Given the description of an element on the screen output the (x, y) to click on. 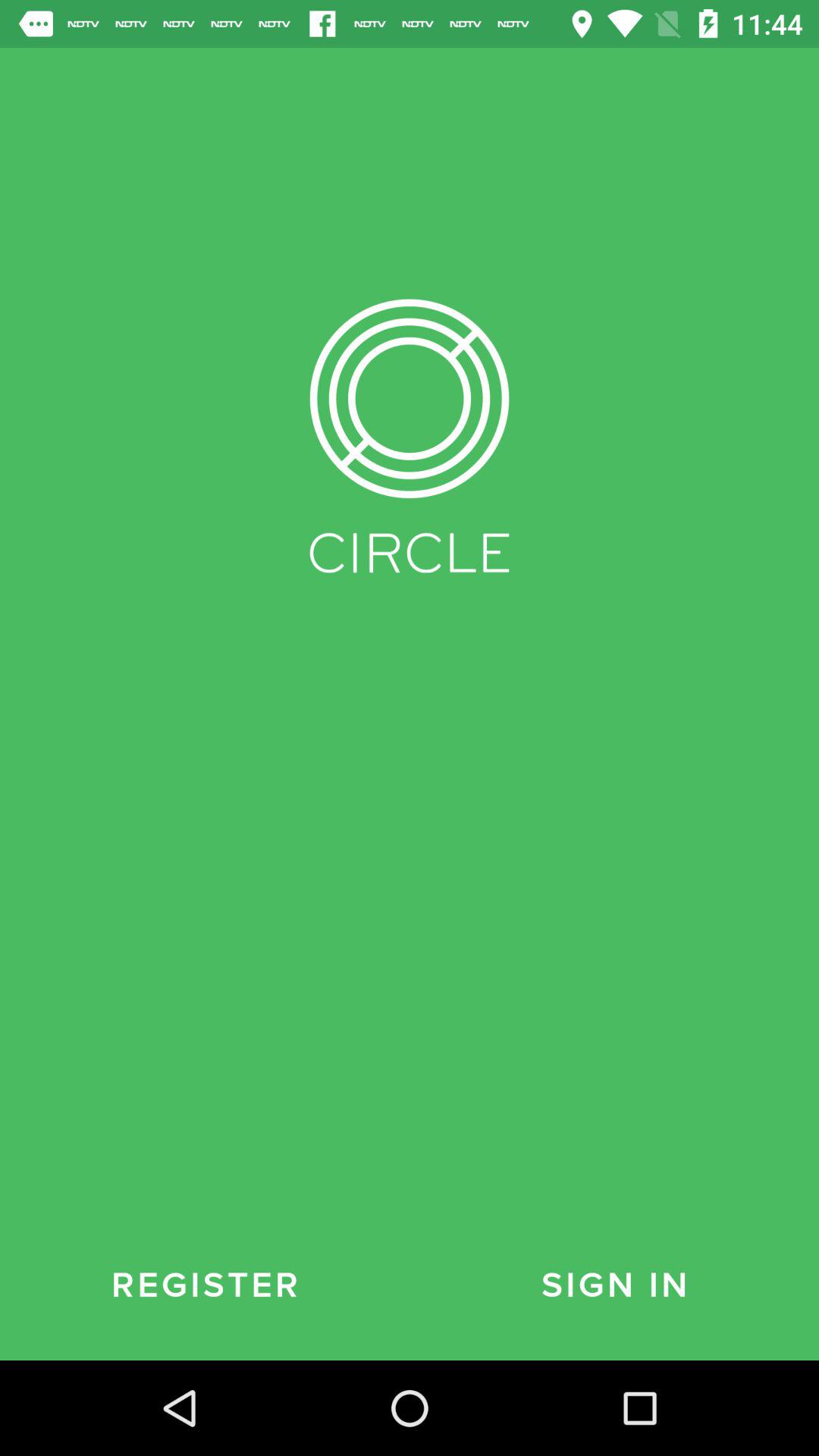
launch the register at the bottom left corner (204, 1285)
